Given the description of an element on the screen output the (x, y) to click on. 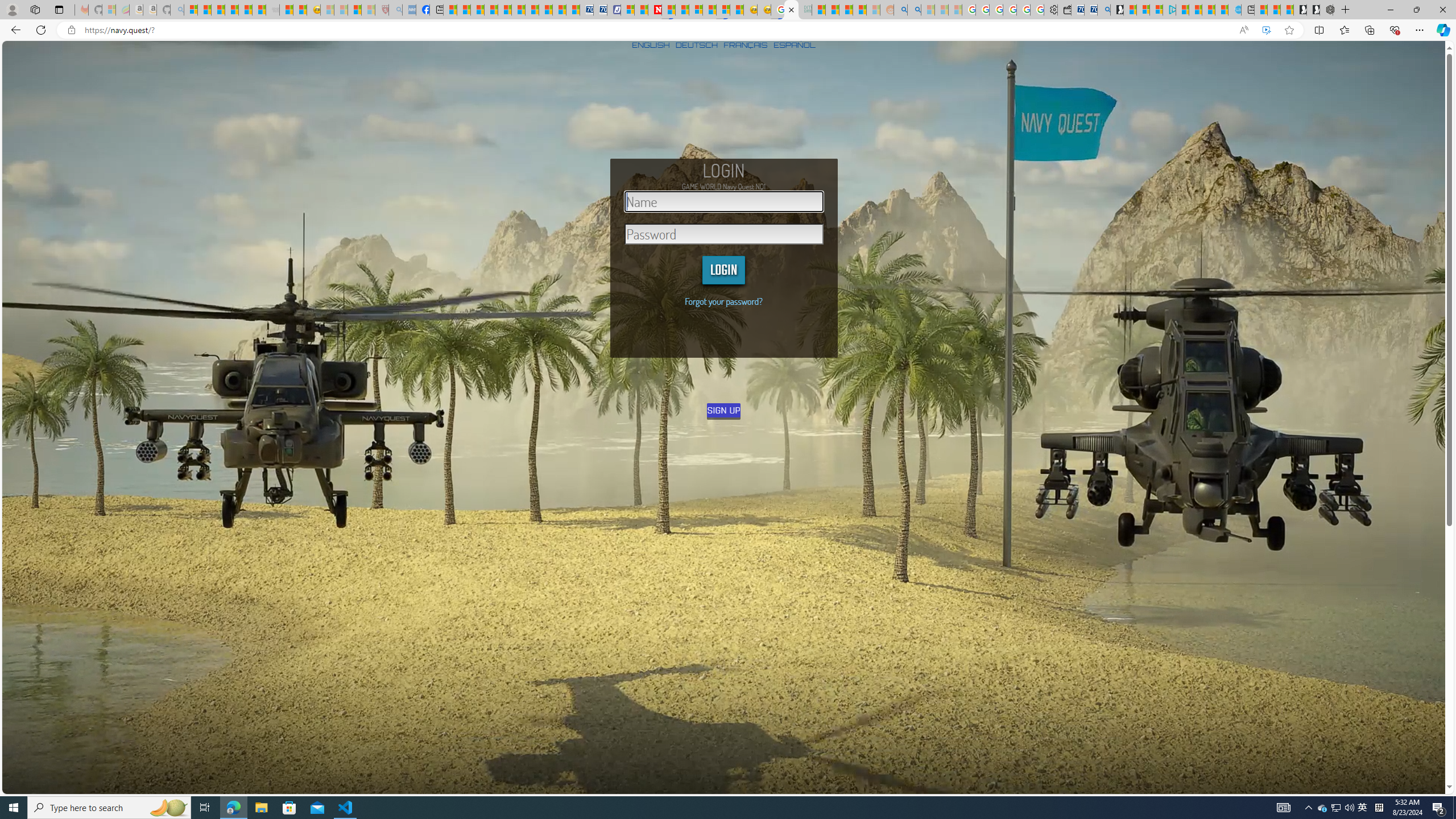
LOGIN (723, 269)
Name (724, 201)
Bing Real Estate - Home sales and rental listings (1103, 9)
